Given the description of an element on the screen output the (x, y) to click on. 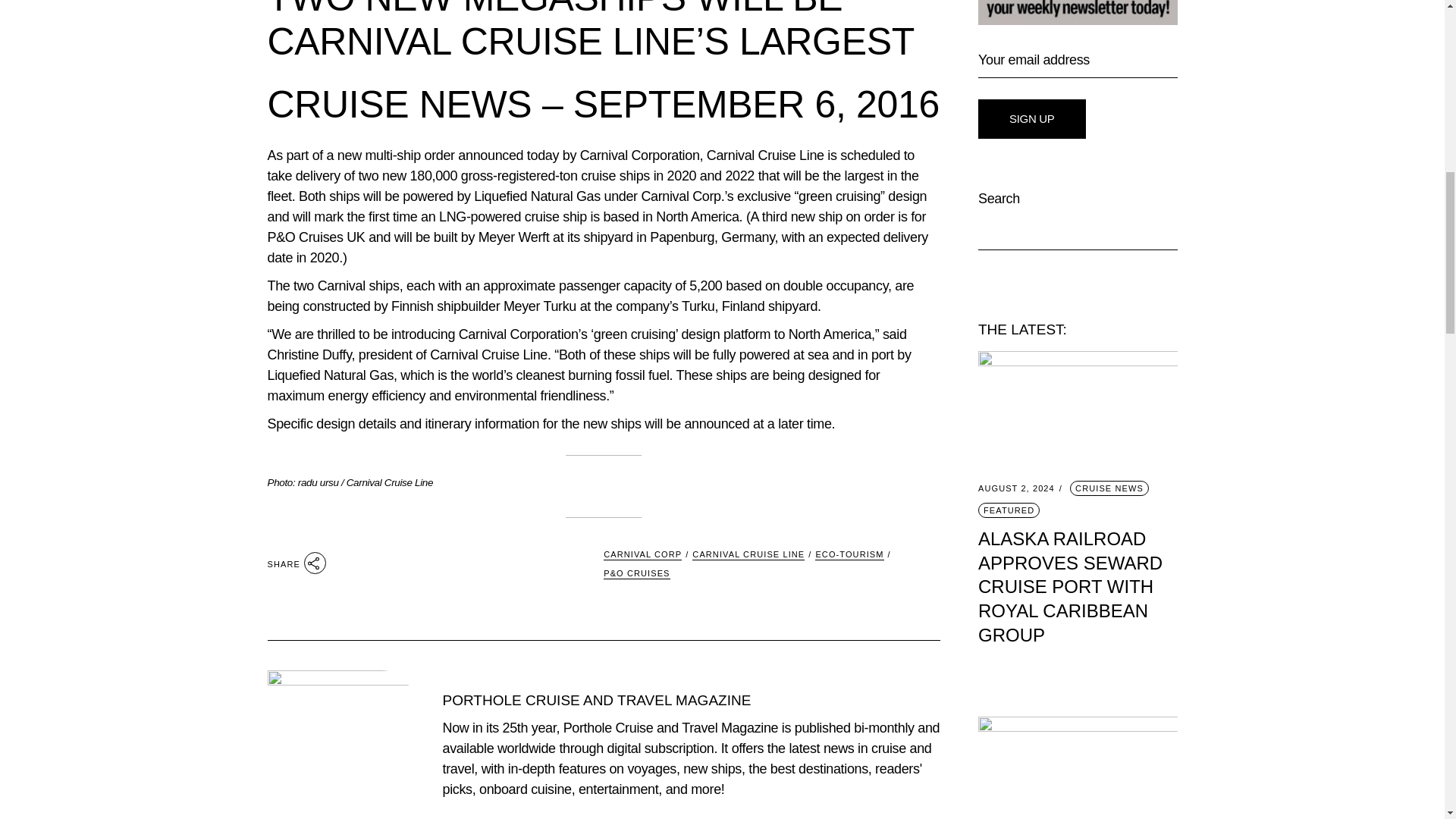
Sign up (1032, 118)
